Given the description of an element on the screen output the (x, y) to click on. 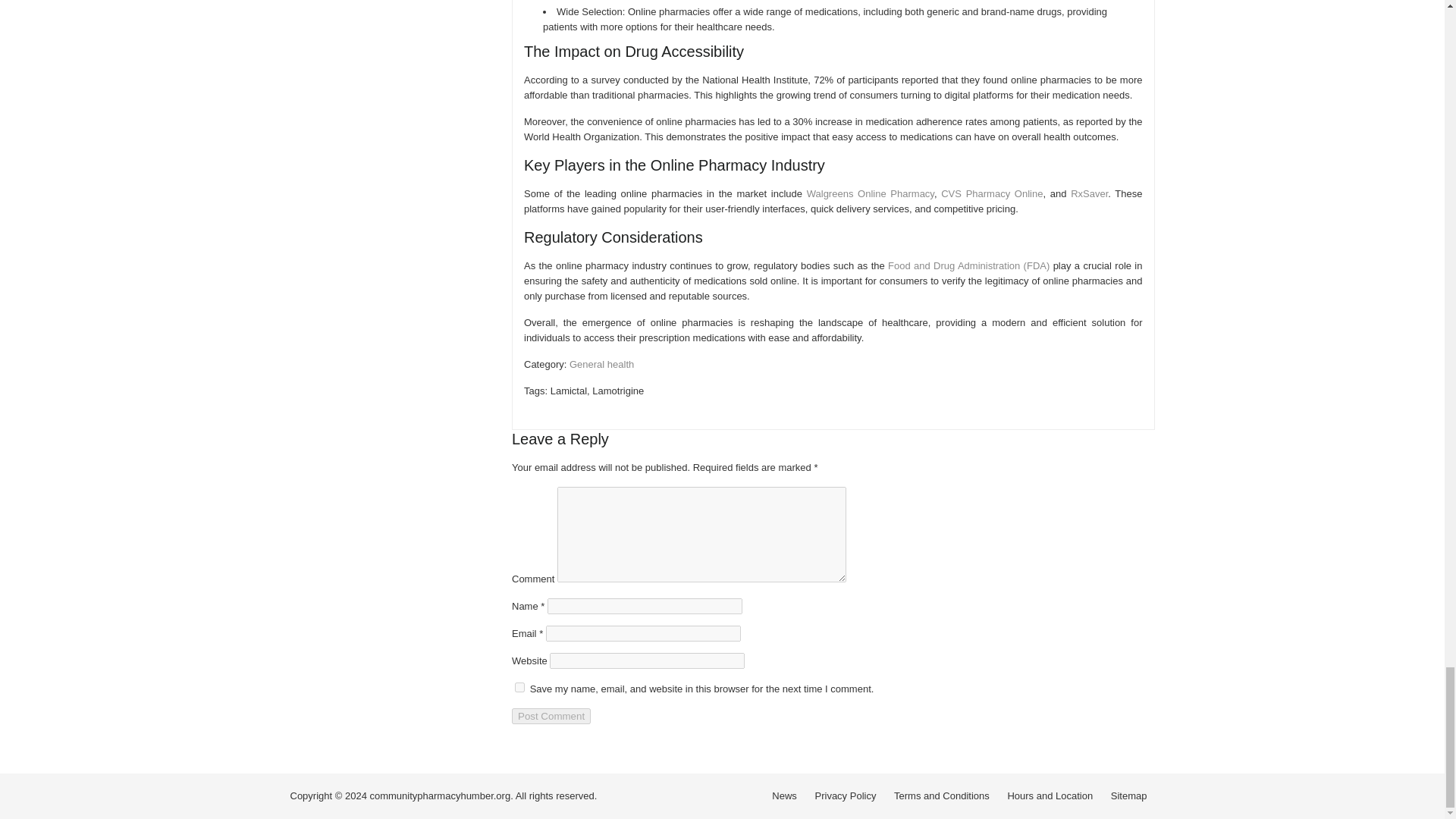
yes (519, 687)
Post Comment (551, 715)
General health (601, 364)
RxSaver (1089, 193)
Walgreens Online Pharmacy (870, 193)
Post Comment (551, 715)
CVS Pharmacy Online (991, 193)
